Given the description of an element on the screen output the (x, y) to click on. 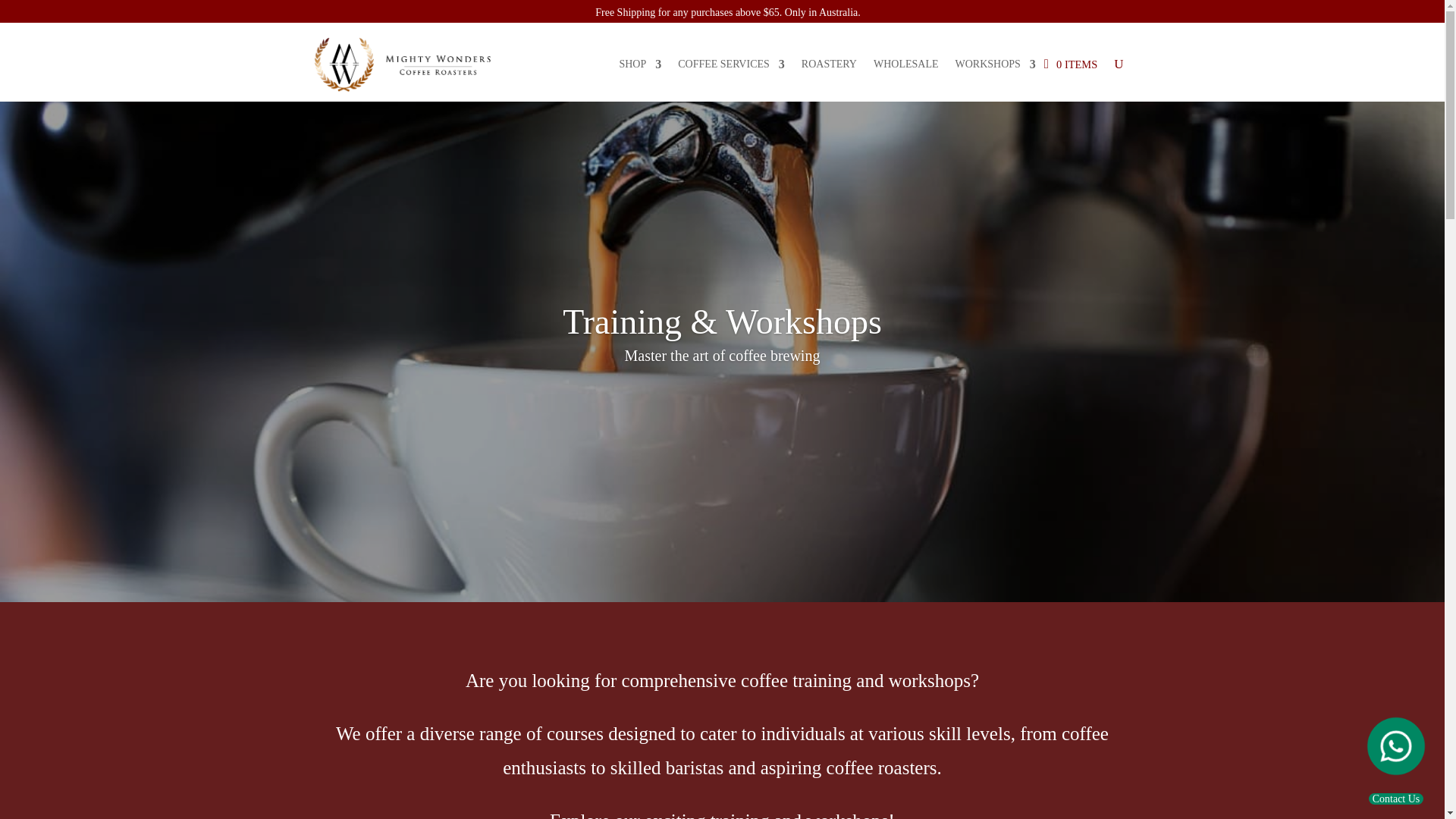
WHOLESALE (906, 64)
0 ITEMS (1070, 64)
COFFEE SERVICES (731, 64)
WORKSHOPS (995, 64)
ROASTERY (829, 64)
